Given the description of an element on the screen output the (x, y) to click on. 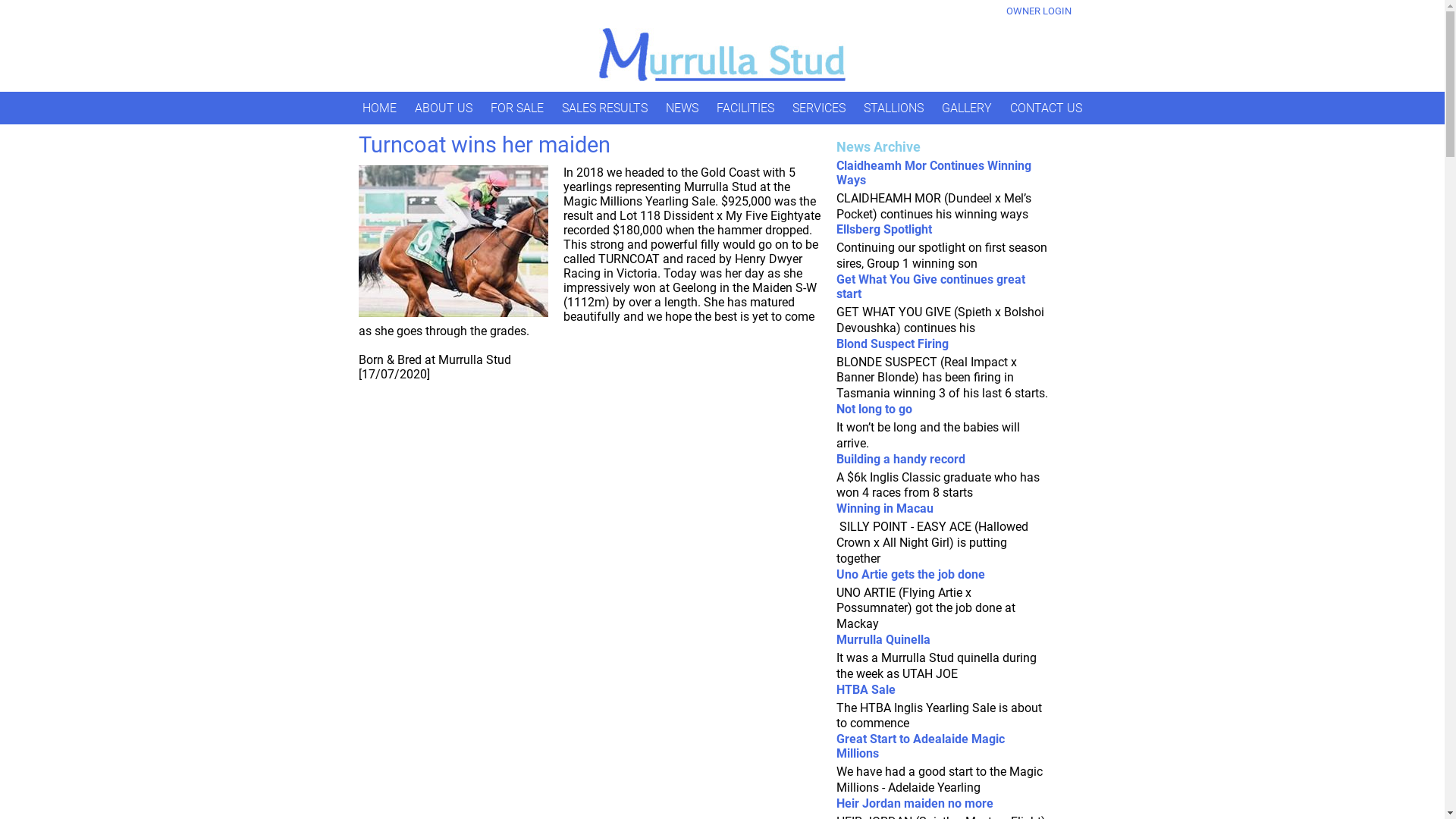
SERVICES Element type: text (822, 107)
FOR SALE Element type: text (520, 107)
Murrulla Quinella Element type: text (882, 639)
Get What You Give continues great start Element type: text (929, 286)
Building a handy record Element type: text (899, 458)
Blond Suspect Firing Element type: text (891, 343)
HOME Element type: text (383, 107)
CONTACT US Element type: text (1049, 107)
HTBA Sale Element type: text (864, 689)
SALES RESULTS Element type: text (608, 107)
Great Start to Adealaide Magic Millions Element type: text (919, 745)
Winning in Macau Element type: text (883, 508)
Not long to go Element type: text (873, 408)
Ellsberg Spotlight Element type: text (883, 229)
NEWS Element type: text (685, 107)
Uno Artie gets the job done Element type: text (909, 574)
OWNER LOGIN Element type: text (1037, 10)
GALLERY Element type: text (970, 107)
Heir Jordan maiden no more Element type: text (913, 803)
Claidheamh Mor Continues Winning Ways Element type: text (932, 172)
ABOUT US Element type: text (447, 107)
STALLIONS Element type: text (897, 107)
FACILITIES Element type: text (748, 107)
